Given the description of an element on the screen output the (x, y) to click on. 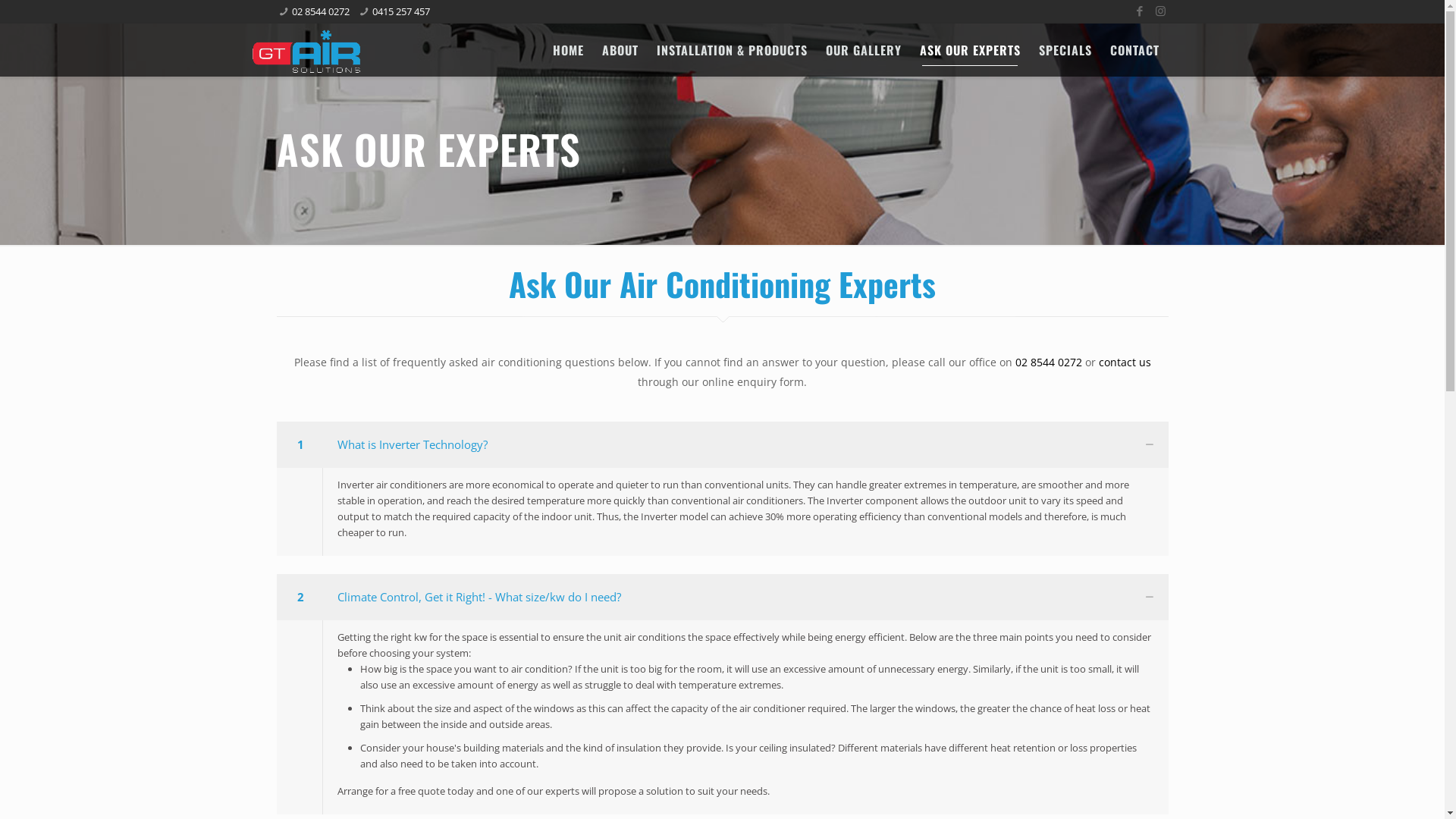
GT Air Solutions Pty Ltd Element type: hover (306, 49)
0415 257 457 Element type: text (400, 11)
Facebook Element type: hover (1139, 10)
ASK OUR EXPERTS Element type: text (969, 49)
OUR GALLERY Element type: text (862, 49)
Instagram Element type: hover (1160, 10)
contact us Element type: text (1124, 361)
CONTACT Element type: text (1134, 49)
02 8544 0272 Element type: text (320, 11)
SPECIALS Element type: text (1065, 49)
ABOUT Element type: text (620, 49)
INSTALLATION & PRODUCTS Element type: text (731, 49)
02 8544 0272 Element type: text (1047, 361)
HOME Element type: text (567, 49)
